Given the description of an element on the screen output the (x, y) to click on. 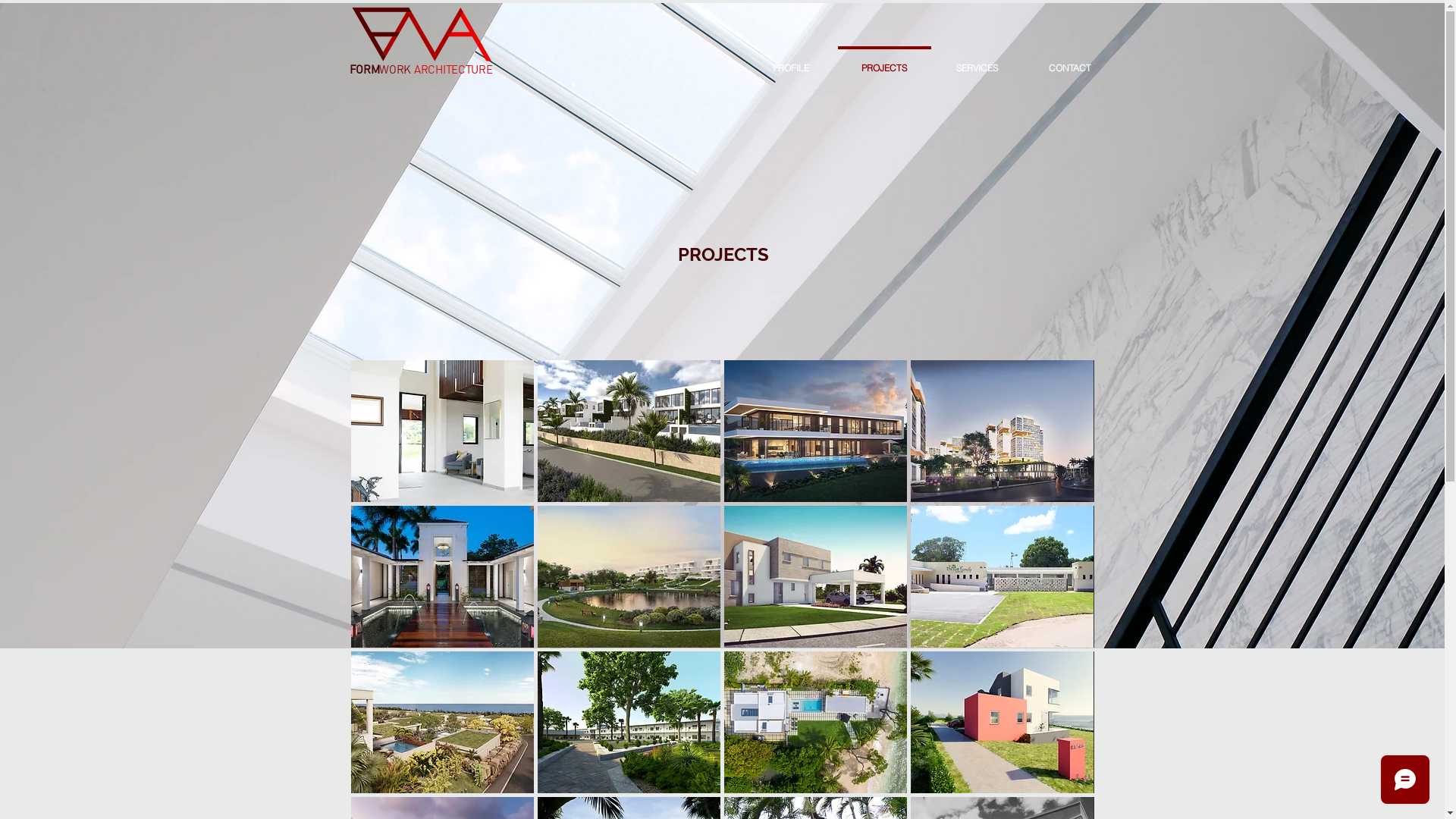
PROFILE Element type: text (790, 61)
CONTACT Element type: text (1069, 61)
SERVICES Element type: text (977, 61)
PROJECTS Element type: text (883, 61)
